Given the description of an element on the screen output the (x, y) to click on. 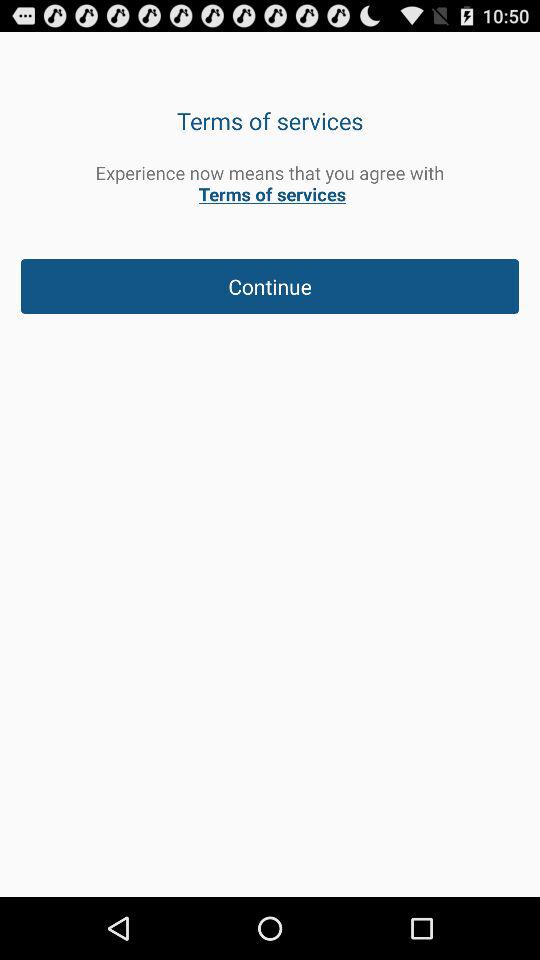
tap the icon below experience now means app (270, 286)
